Given the description of an element on the screen output the (x, y) to click on. 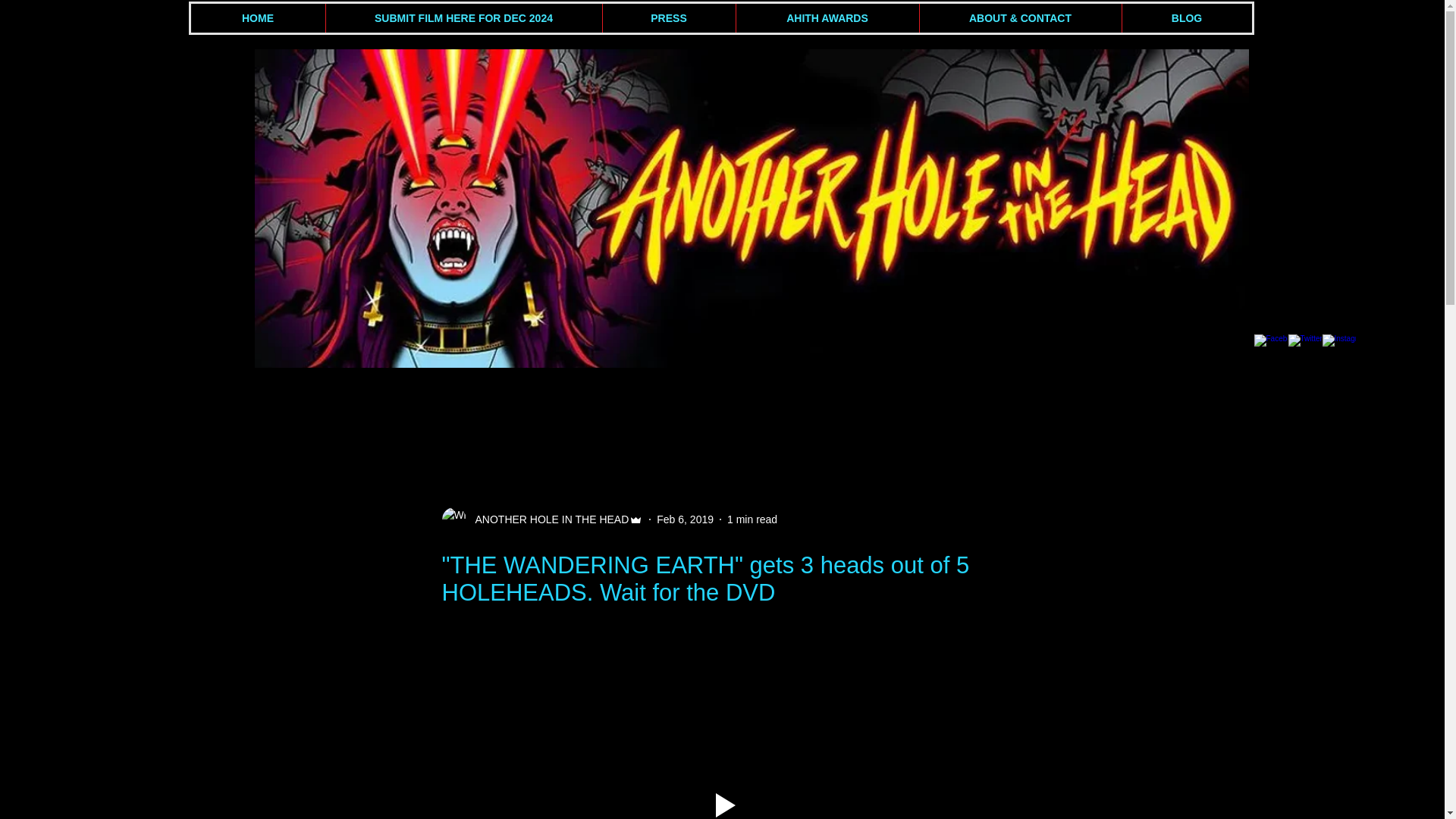
ANOTHER HOLE IN THE HEAD (542, 518)
1 min read (751, 518)
HOME (257, 18)
Feb 6, 2019 (684, 518)
BLOG (1185, 18)
ANOTHER HOLE IN THE HEAD  (546, 519)
AHITH (380, 414)
SUBMIT FILM HERE FOR DEC 2024 (462, 18)
AHITH AWARDS (826, 18)
